Given the description of an element on the screen output the (x, y) to click on. 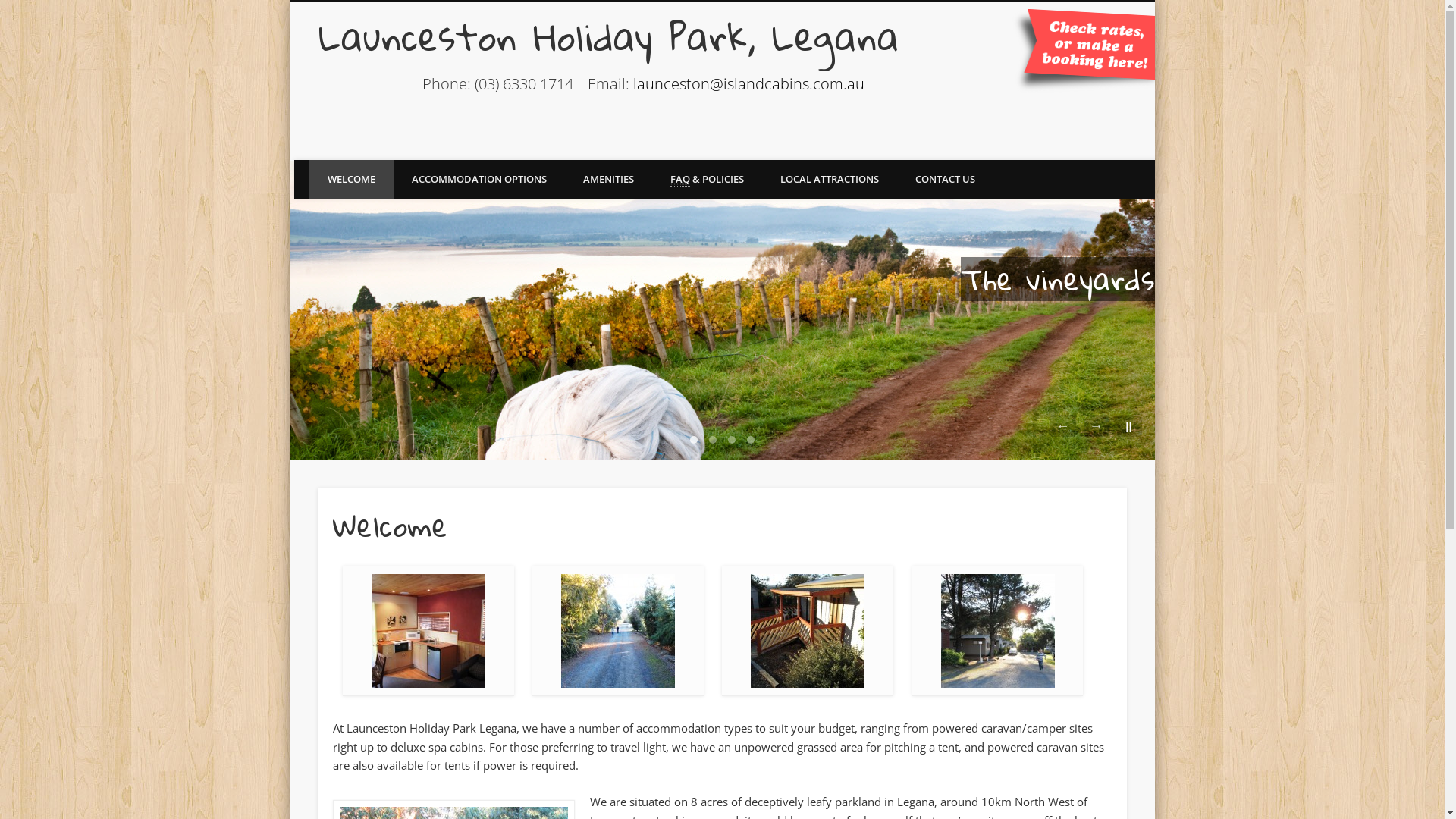
LOCAL ATTRACTIONS Element type: text (828, 179)
|| Element type: text (1129, 425)
4 Element type: text (750, 439)
Check rates and availability and book online. Element type: hover (1079, 51)
FAQ & POLICIES Element type: text (707, 179)
Launceston Holiday Park, Legana Element type: text (609, 36)
CONTACT US Element type: text (944, 179)
2 Element type: text (712, 439)
3 Element type: text (731, 439)
1 Element type: text (693, 439)
WELCOME Element type: text (351, 179)
AMENITIES Element type: text (607, 179)
ACCOMMODATION OPTIONS Element type: text (478, 179)
launceston@islandcabins.com.au Element type: text (748, 83)
